Given the description of an element on the screen output the (x, y) to click on. 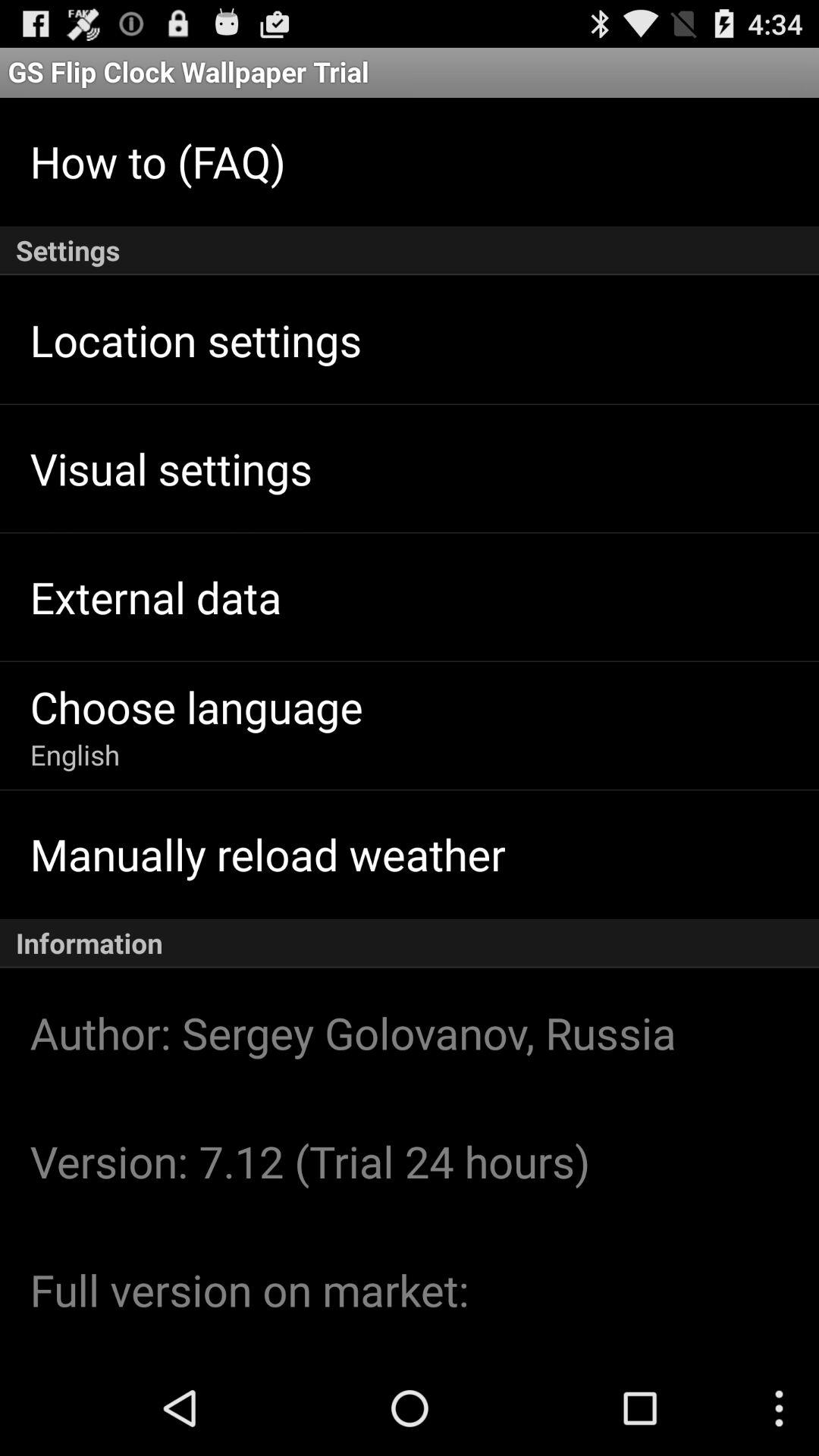
turn off english item (75, 754)
